Given the description of an element on the screen output the (x, y) to click on. 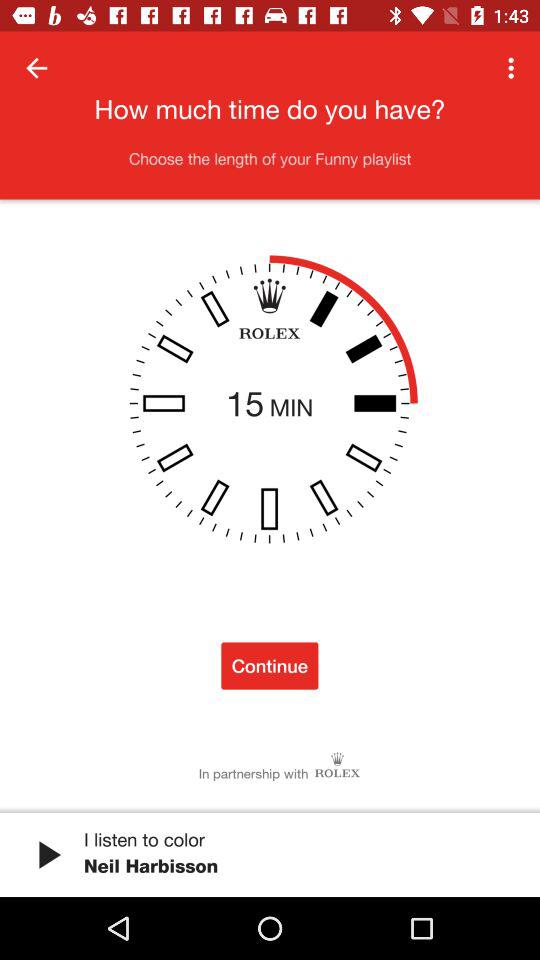
tap the icon above choose the length (513, 67)
